Given the description of an element on the screen output the (x, y) to click on. 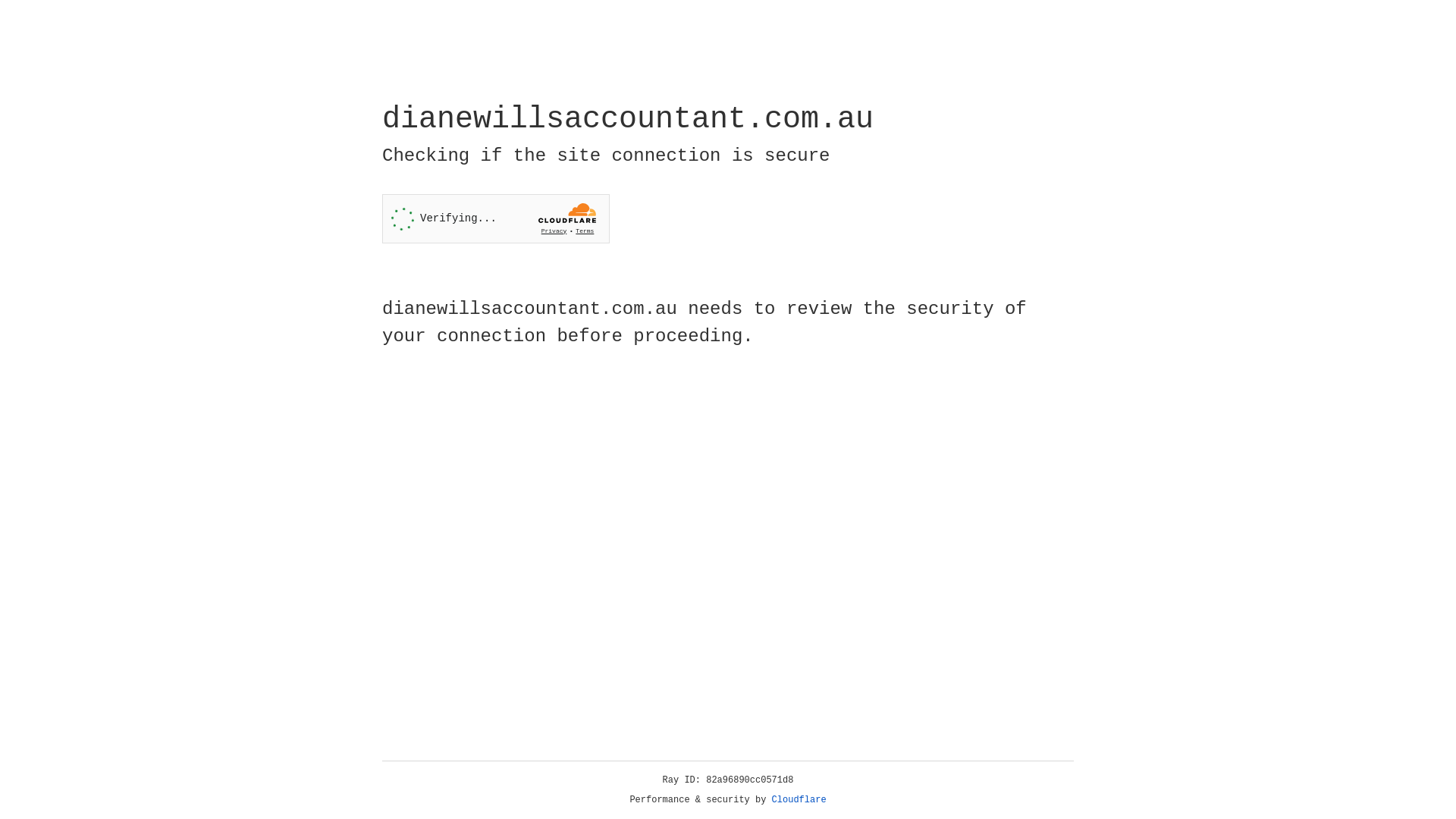
Cloudflare Element type: text (798, 799)
Widget containing a Cloudflare security challenge Element type: hover (495, 218)
